Given the description of an element on the screen output the (x, y) to click on. 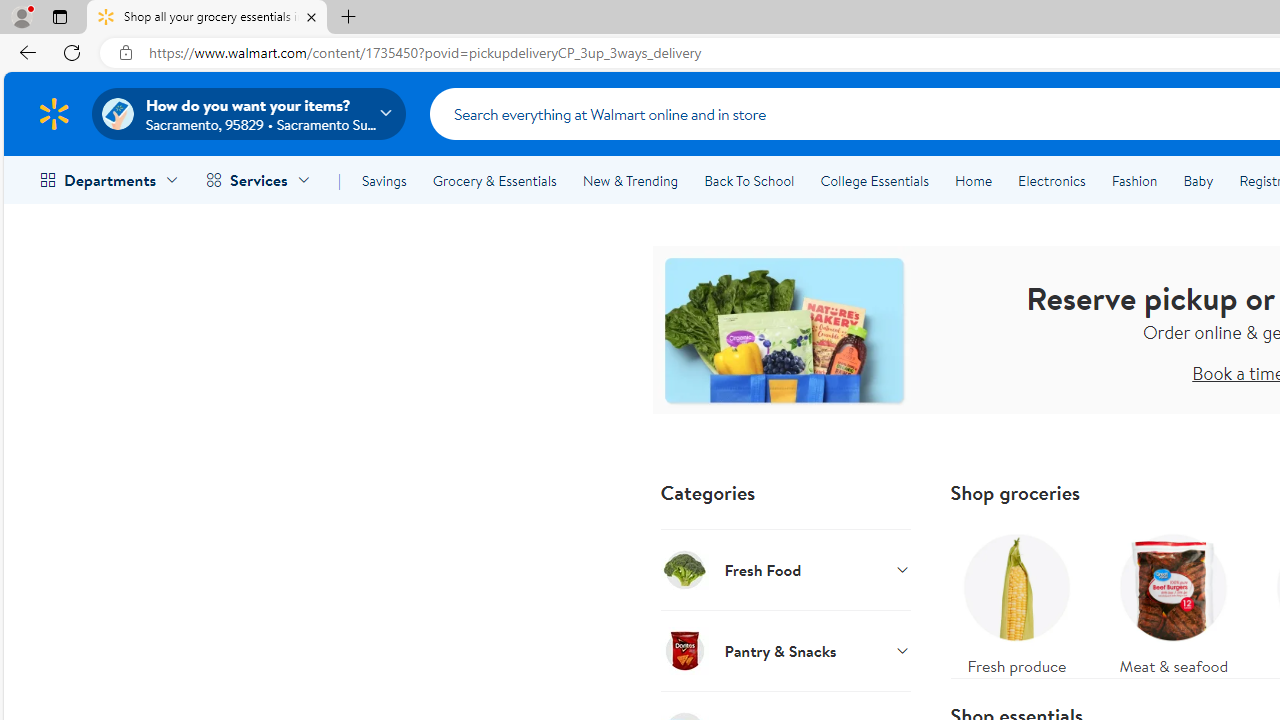
Fresh Food (785, 569)
New & Trending (630, 180)
College Essentials (874, 180)
Fresh produce (1016, 599)
Fashion (1134, 180)
Meat & seafood (1173, 599)
Savings (384, 180)
Savings (384, 180)
